Given the description of an element on the screen output the (x, y) to click on. 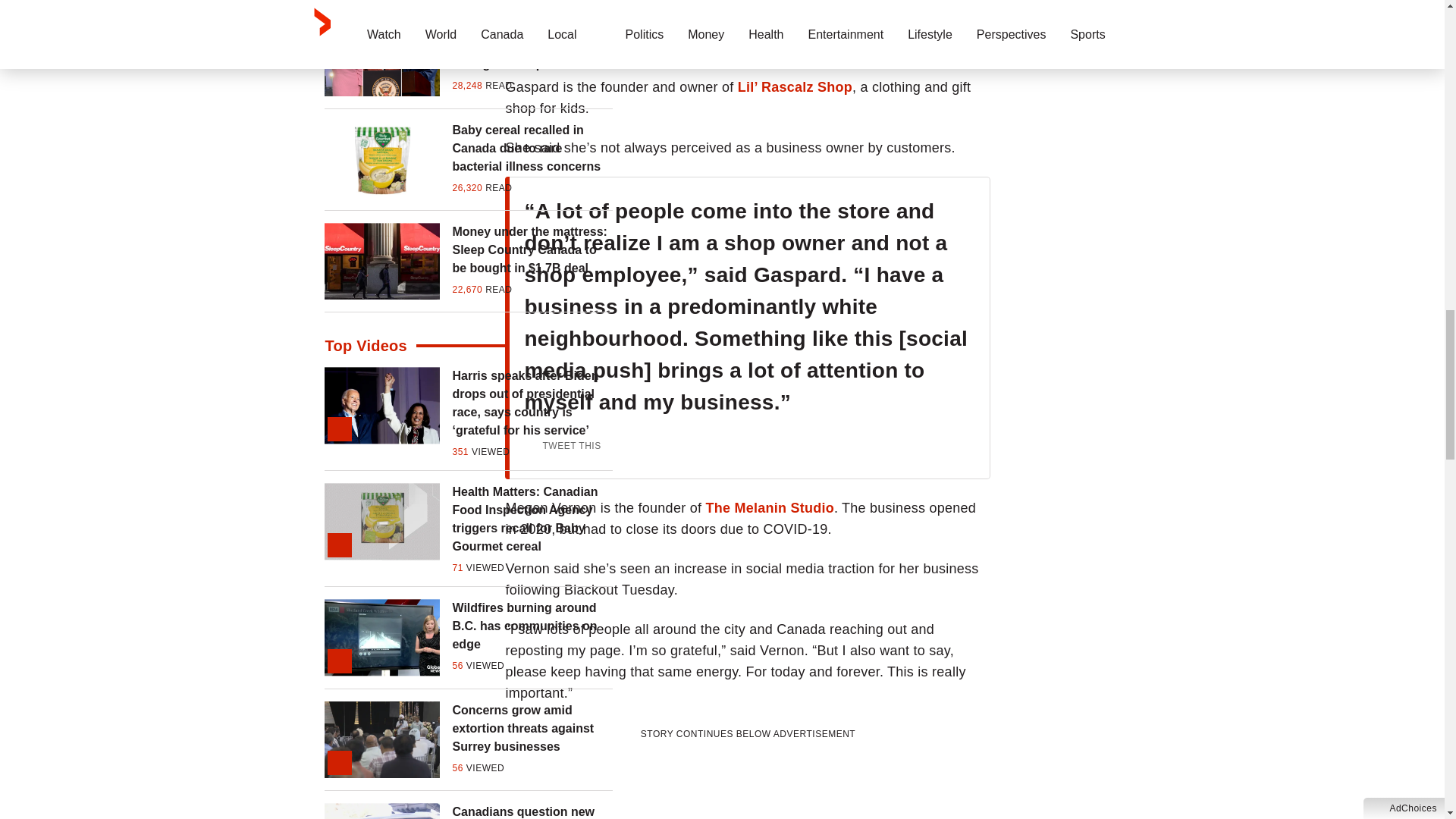
Canadians question new U.S. dog border rules (531, 811)
Wildfires burning around B.C. has communities on edge (531, 625)
